Given the description of an element on the screen output the (x, y) to click on. 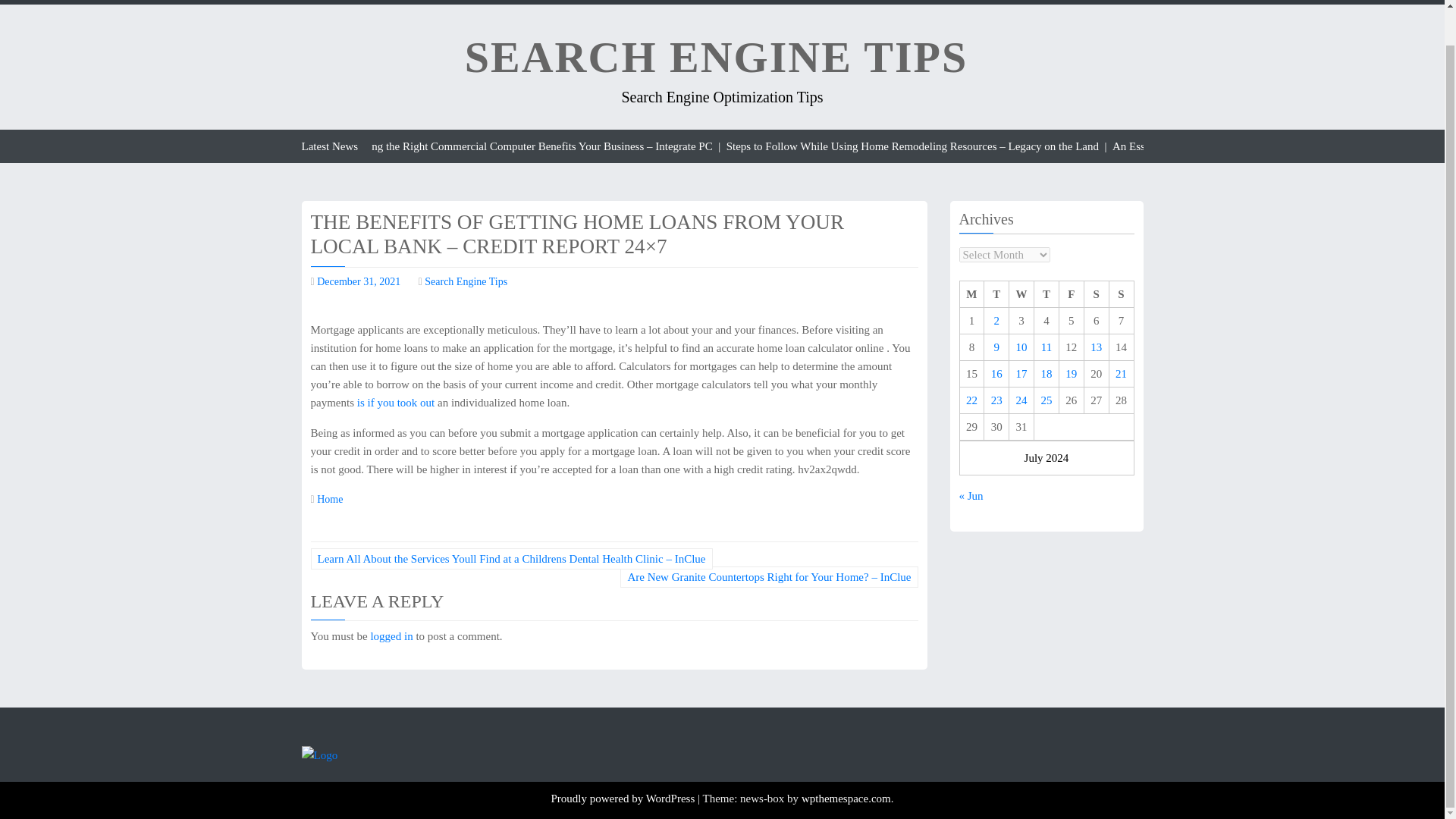
Proudly powered by WordPress (623, 798)
SEARCH ENGINE TIPS (716, 57)
Search Engine Tips (465, 281)
Home (329, 499)
Sunday (1121, 294)
10 (1021, 346)
wpthemespace.com (846, 798)
logged in (390, 635)
Search (1109, 18)
23 (997, 399)
Wednesday (1021, 294)
19 (1071, 373)
Friday (1070, 294)
25 (1046, 399)
Monday (971, 294)
